Given the description of an element on the screen output the (x, y) to click on. 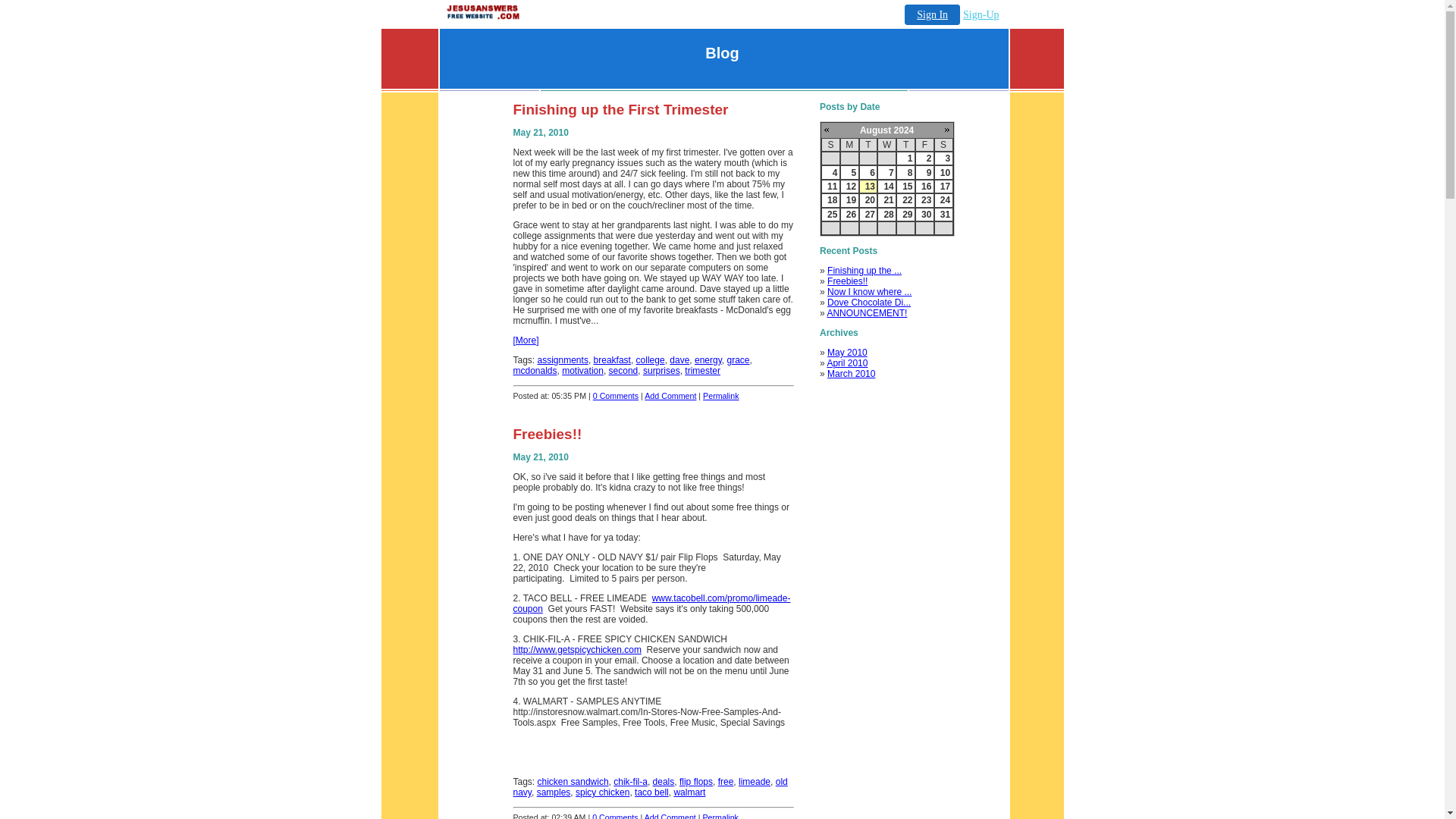
Add Comment (670, 395)
mcdonalds (534, 370)
samples (553, 792)
trimester (702, 370)
spicy chicken (601, 792)
Permalink (720, 395)
energy (708, 359)
deals (663, 781)
breakfast (612, 359)
Sign-Up (980, 14)
